Given the description of an element on the screen output the (x, y) to click on. 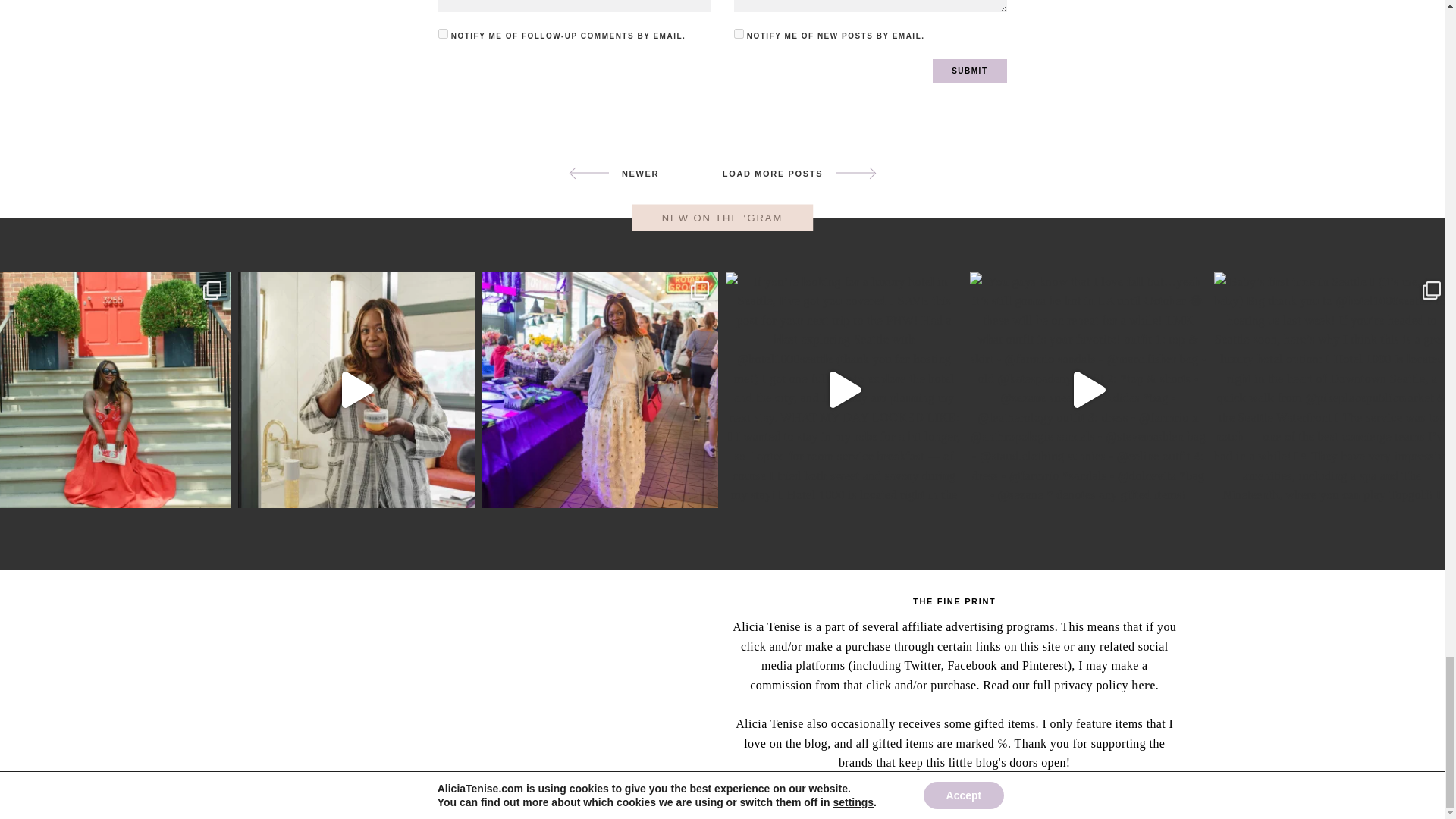
Submit (969, 70)
subscribe (443, 33)
subscribe (738, 33)
